Given the description of an element on the screen output the (x, y) to click on. 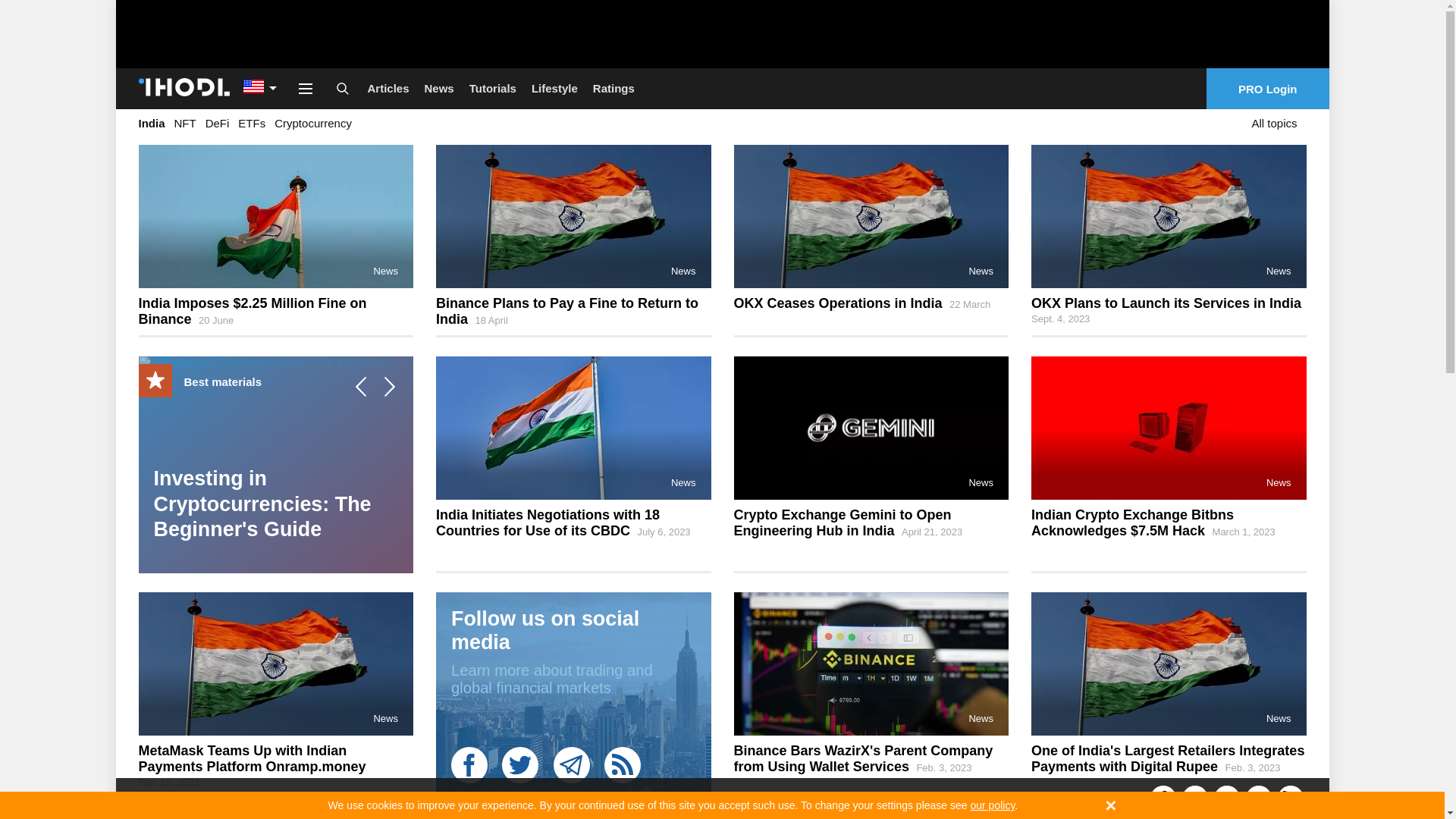
Tutorials (492, 87)
News (438, 87)
Lifestyle (554, 87)
ETFs (251, 123)
Articles (387, 87)
India (151, 123)
Cryptocurrency (313, 123)
NFT (185, 123)
PRO Login (1268, 87)
News (384, 270)
3rd party ad content (721, 33)
our policy (991, 805)
All topics (1273, 123)
DeFi (217, 123)
Ratings (613, 87)
